Given the description of an element on the screen output the (x, y) to click on. 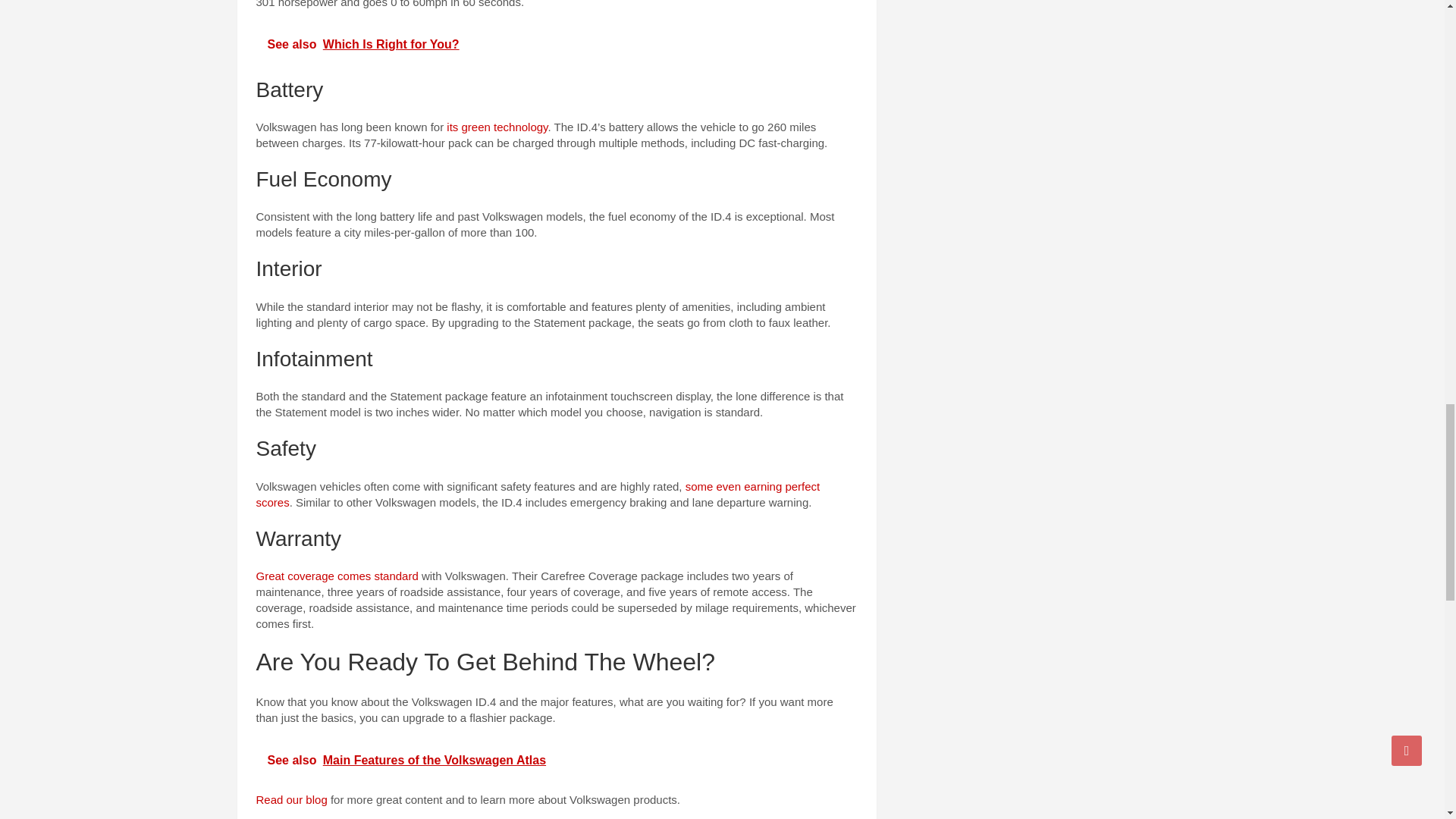
See also  Which Is Right for You? (556, 44)
See also  Main Features of the Volkswagen Atlas (556, 760)
its green technology (496, 126)
Read our blog (291, 799)
Great coverage comes standard (337, 575)
some even earning perfect scores (538, 493)
